Given the description of an element on the screen output the (x, y) to click on. 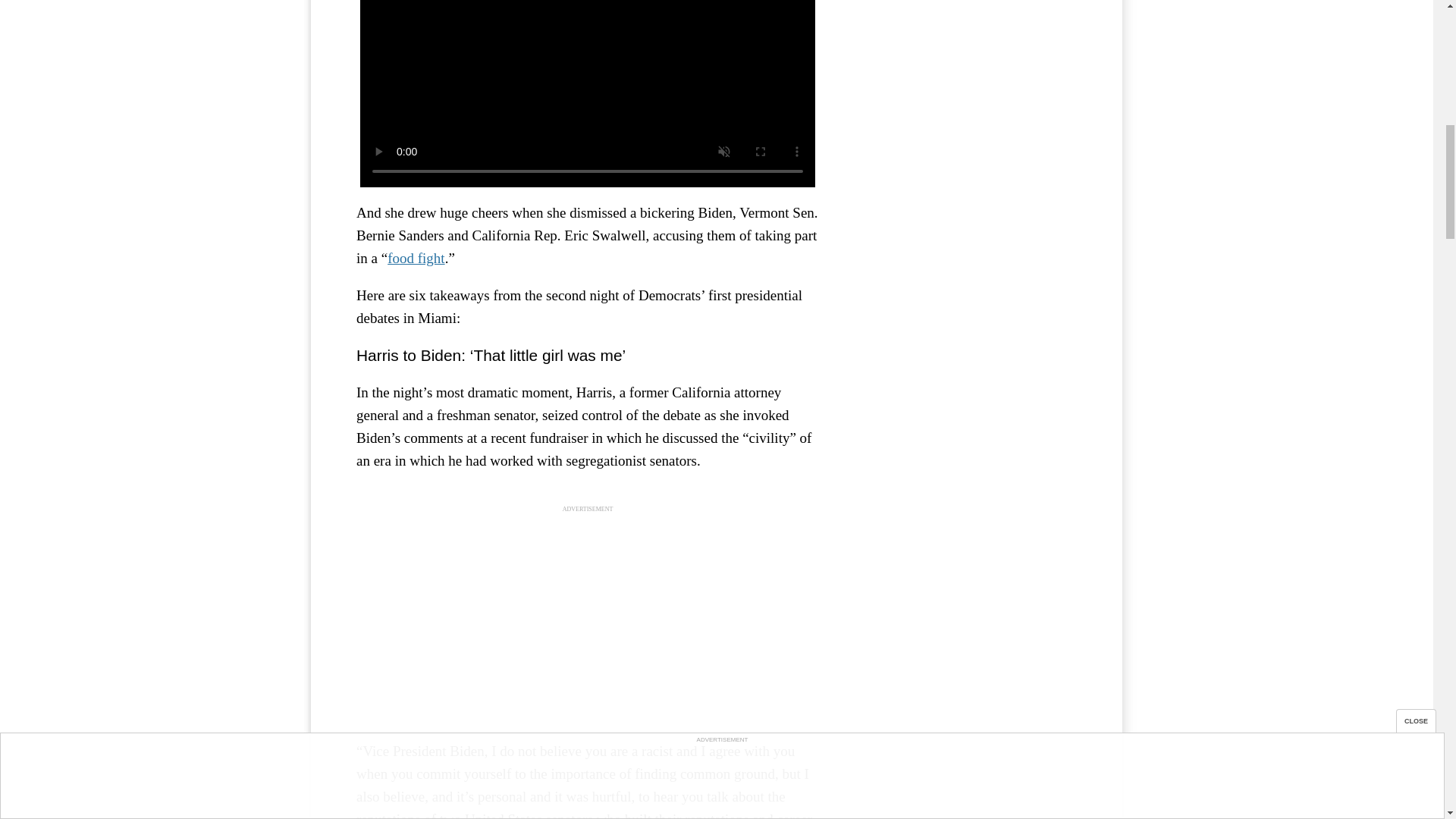
3rd party ad content (587, 619)
3rd party ad content (962, 69)
